Given the description of an element on the screen output the (x, y) to click on. 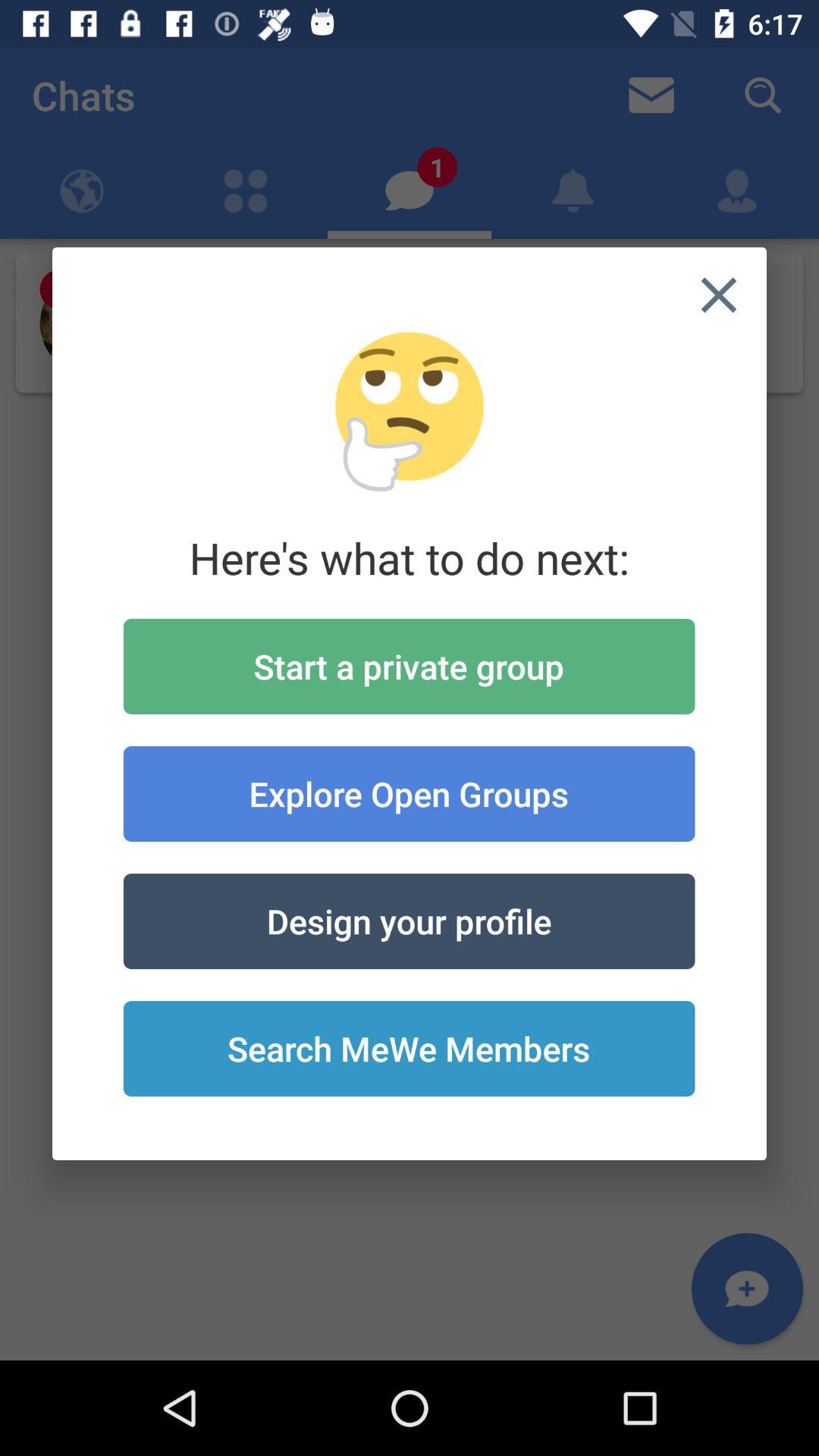
flip to the search mewe members (409, 1048)
